Given the description of an element on the screen output the (x, y) to click on. 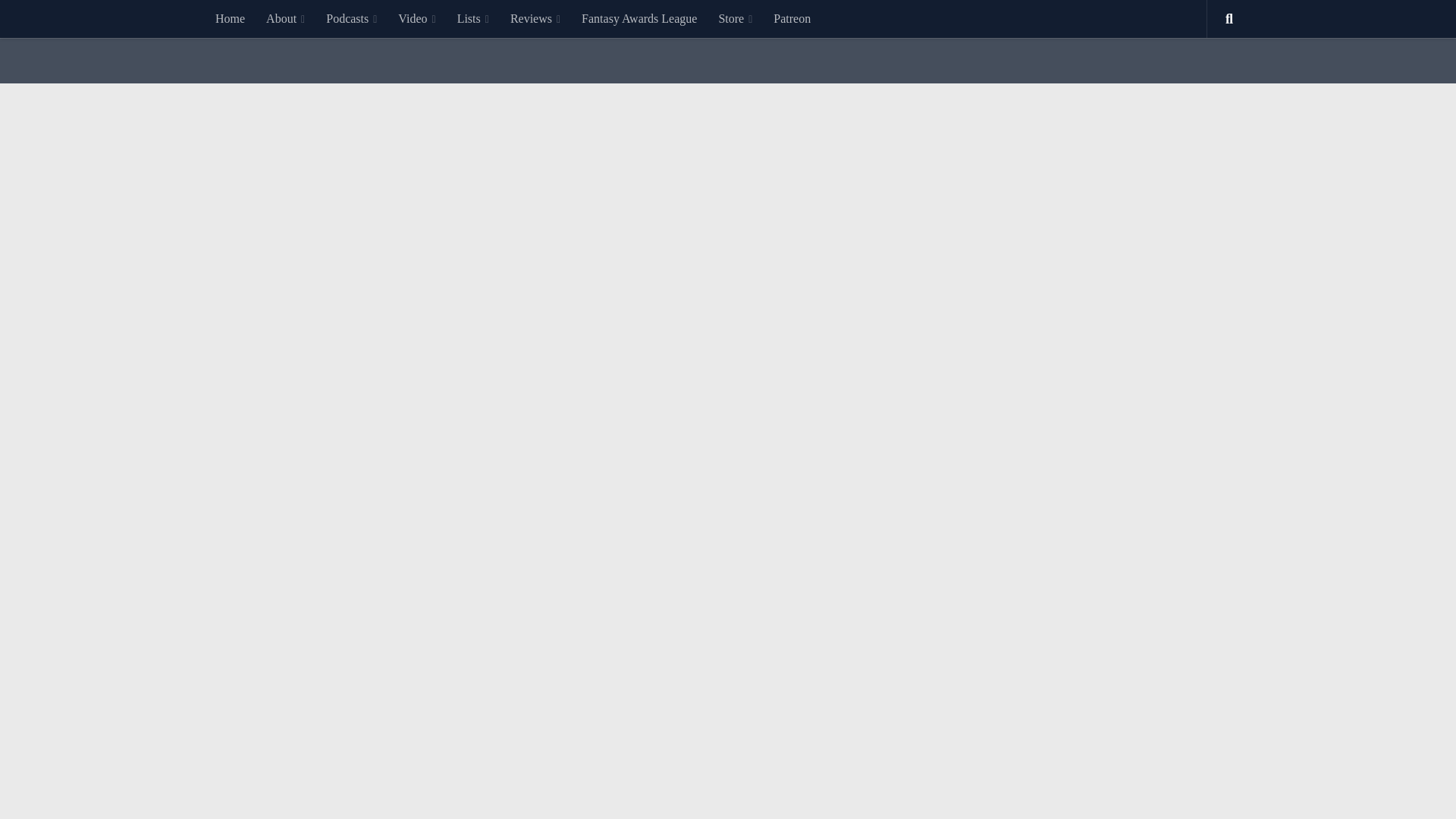
Store (734, 18)
Skip to content (59, 20)
Video (416, 18)
About (285, 18)
Reviews (534, 18)
Home (230, 18)
Podcasts (351, 18)
Lists (472, 18)
Patreon (791, 18)
Fantasy Awards League (638, 18)
